Given the description of an element on the screen output the (x, y) to click on. 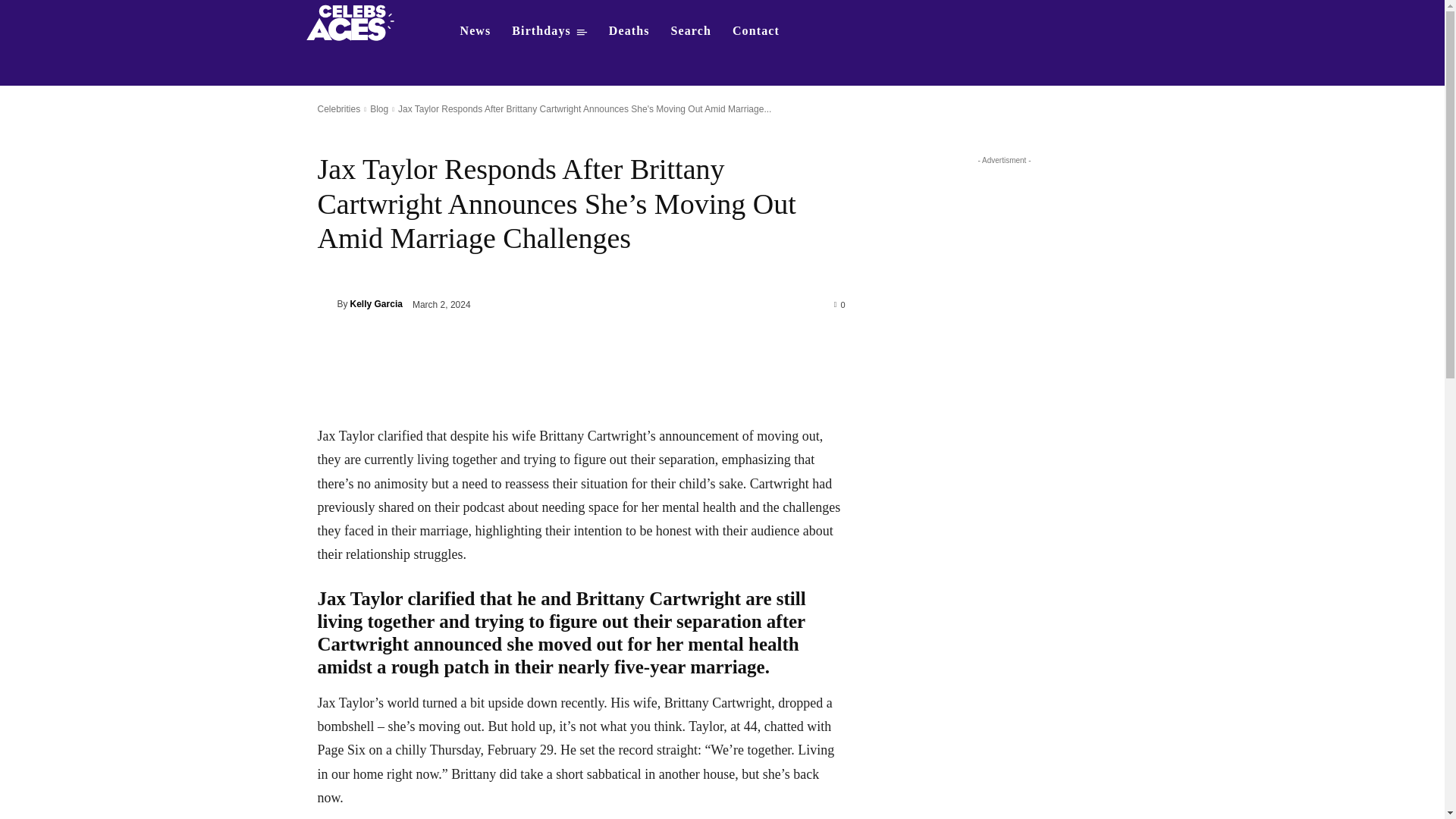
Celebs News (474, 31)
Contact (756, 31)
Who is dating who (354, 21)
Search (691, 31)
Blog (378, 109)
News (474, 31)
Birthdays (548, 31)
Kelly Garcia (376, 303)
Deaths (629, 31)
Celebrities (338, 109)
